Given the description of an element on the screen output the (x, y) to click on. 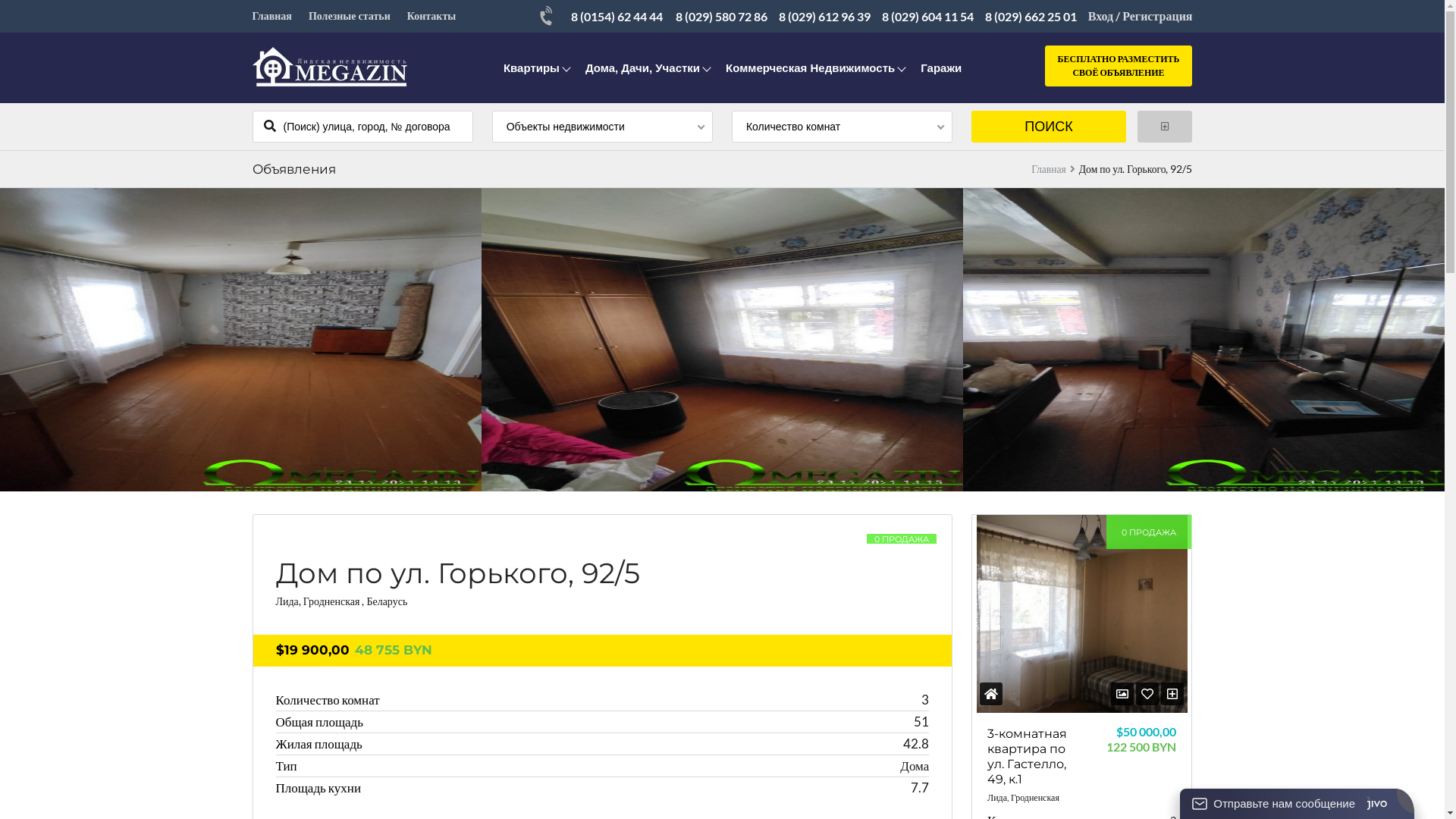
8 (029) 612 96 39 Element type: text (824, 16)
8 (029) 580 72 86 Element type: text (721, 16)
<i class="fa fa-heart-o"></i> Element type: hover (1147, 693)
8 (029) 662 25 01 Element type: text (1030, 16)
8 (029) 604 11 54 Element type: text (927, 16)
8 (0154) 62 44 44 Element type: text (616, 16)
Login Element type: text (740, 630)
